Given the description of an element on the screen output the (x, y) to click on. 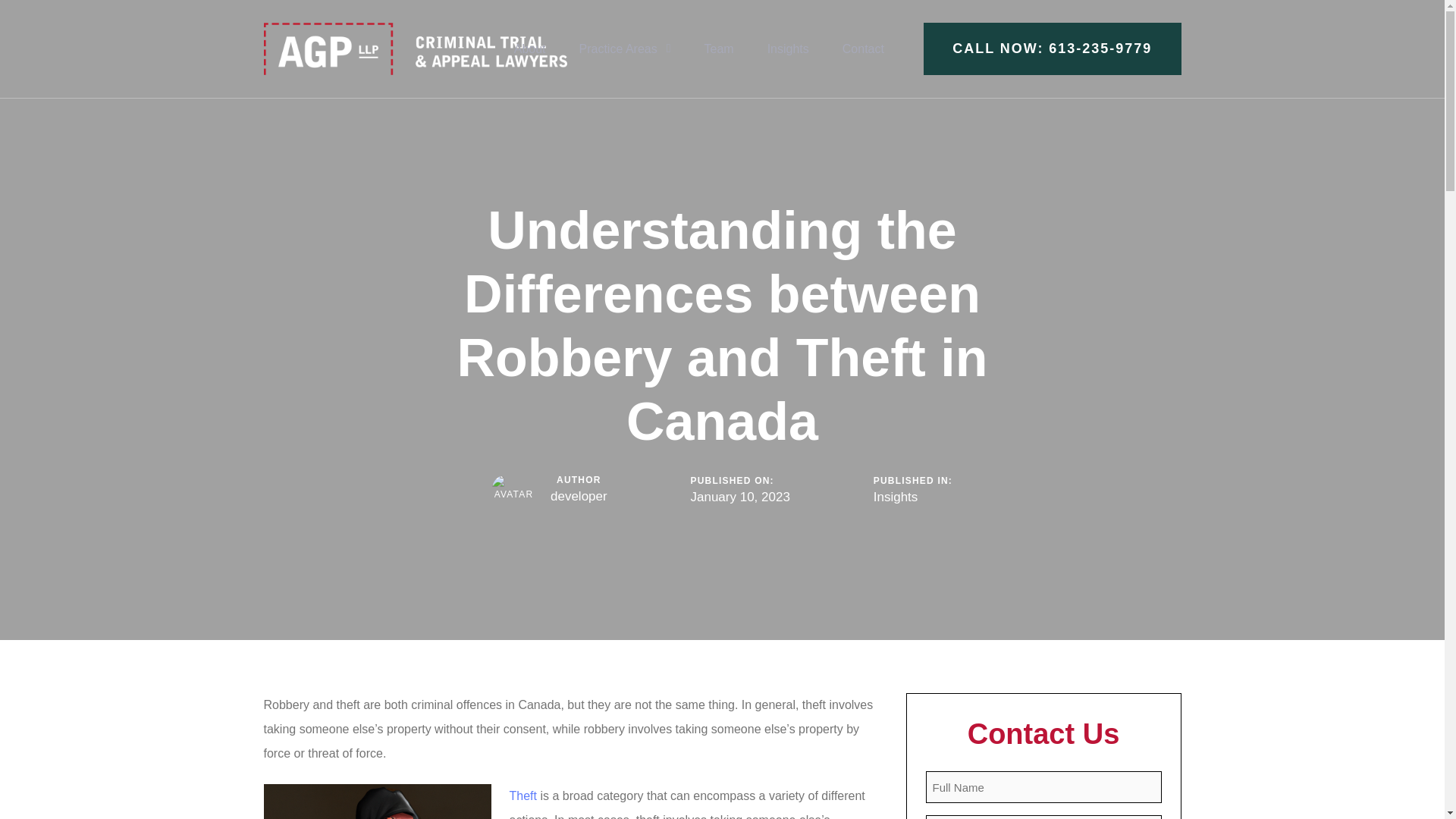
Posts by developer (578, 495)
developer (578, 495)
Insights (895, 497)
Practice Areas (624, 48)
January 10, 2023 (739, 497)
Theft (523, 795)
CALL NOW: 613-235-9779 (1051, 48)
